Given the description of an element on the screen output the (x, y) to click on. 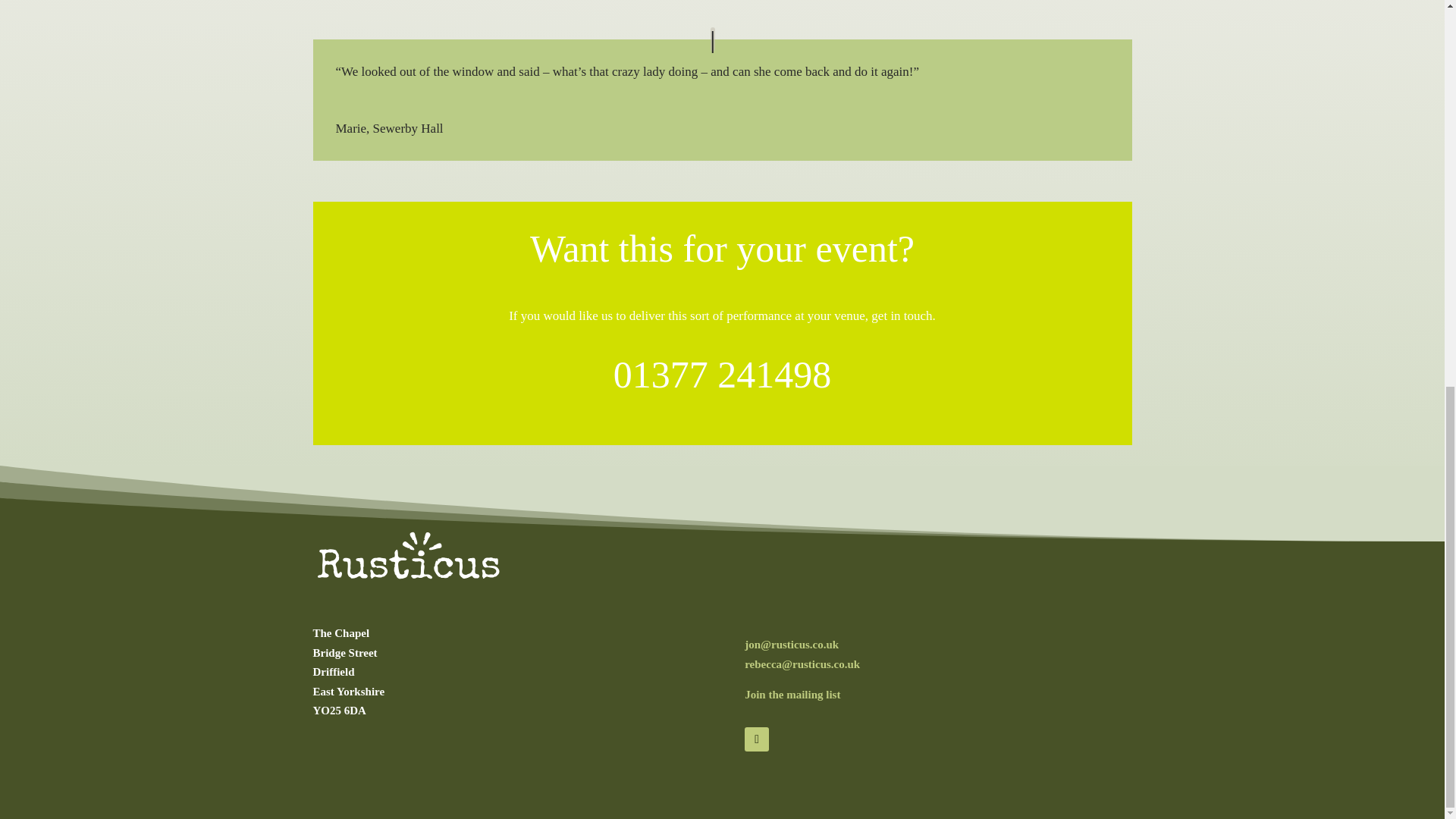
Join the mailing list (792, 694)
Follow on Facebook (756, 739)
rusticus-logo (407, 555)
